Given the description of an element on the screen output the (x, y) to click on. 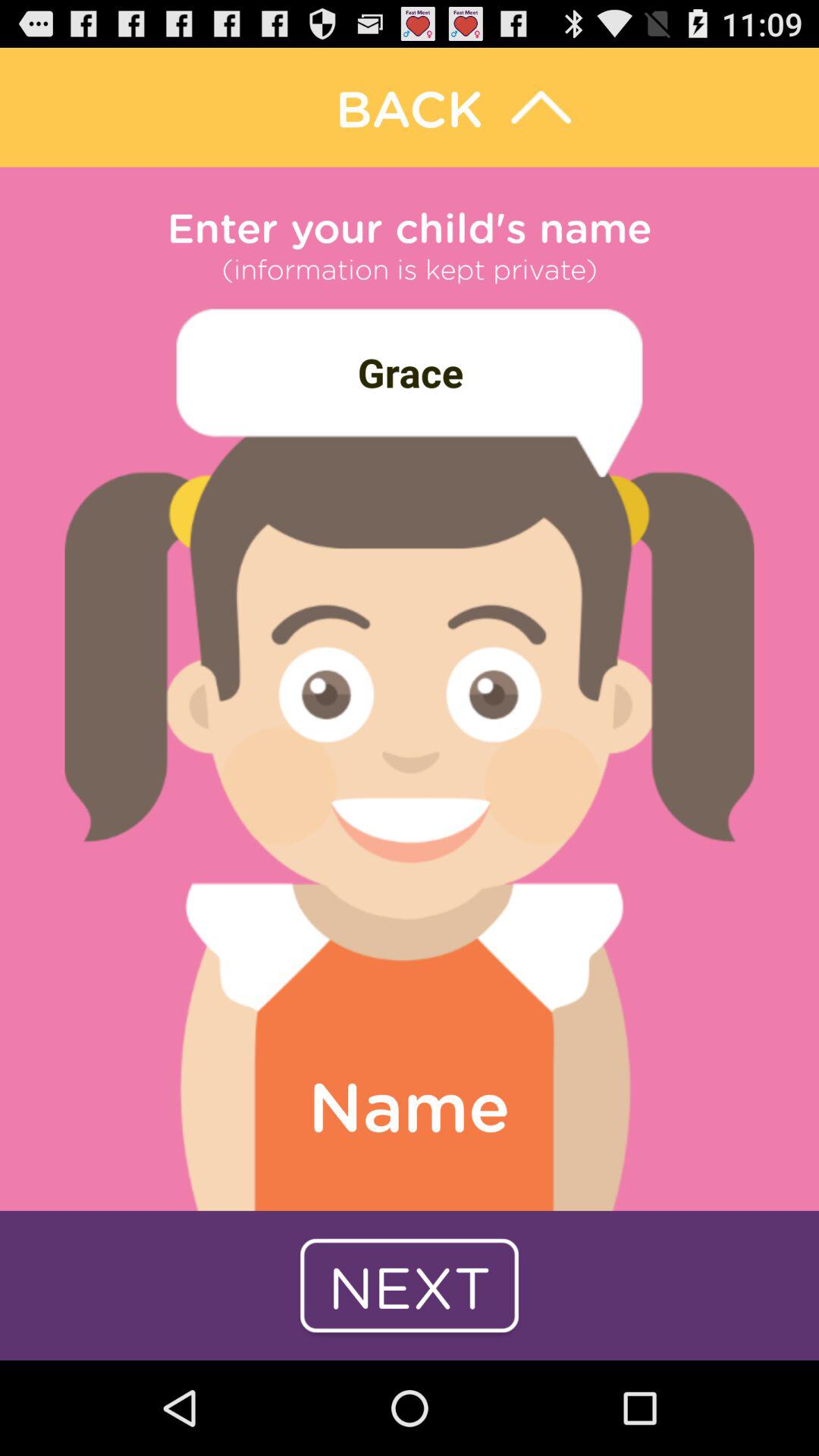
go back (409, 107)
